Given the description of an element on the screen output the (x, y) to click on. 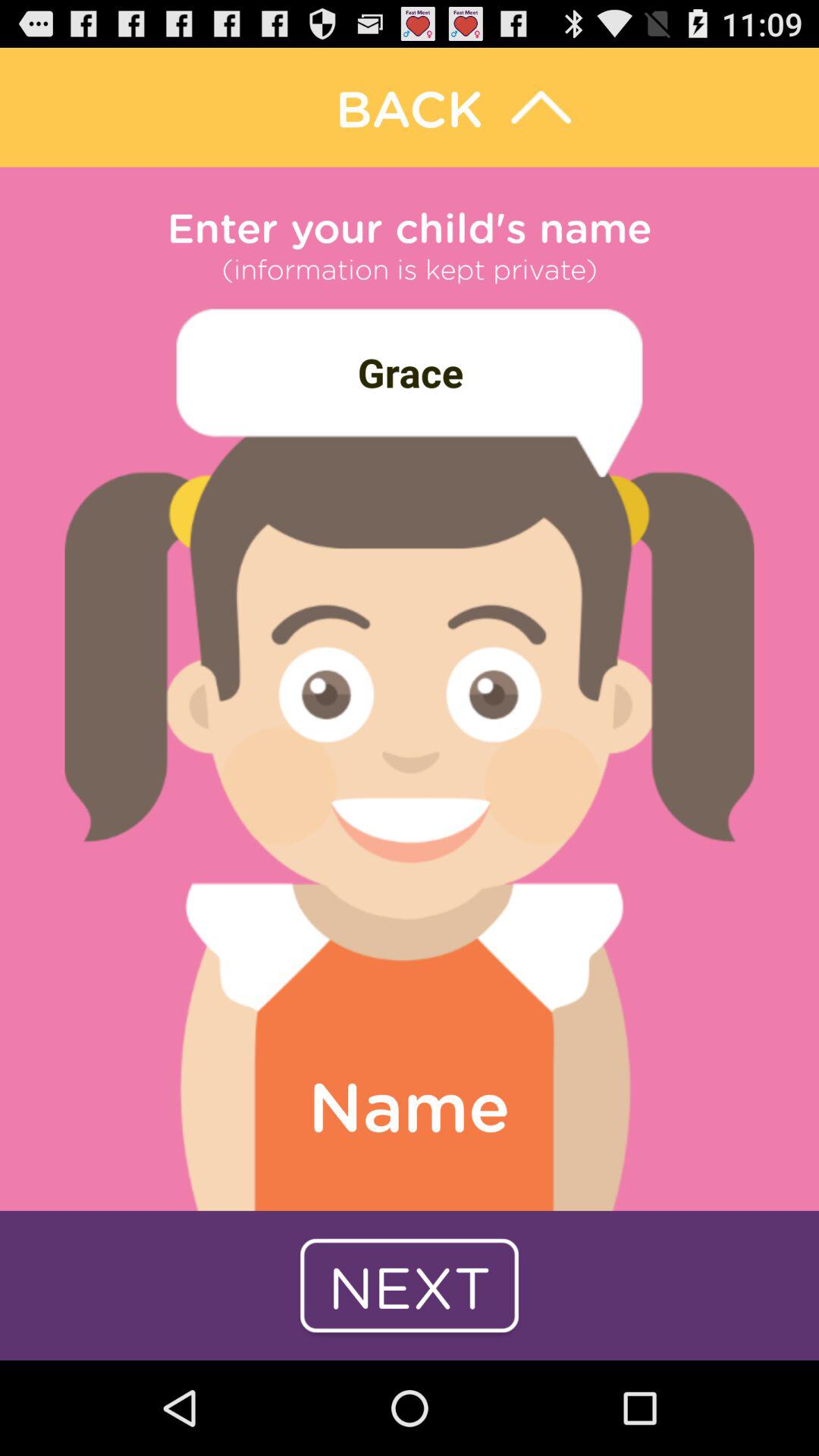
go back (409, 107)
